Given the description of an element on the screen output the (x, y) to click on. 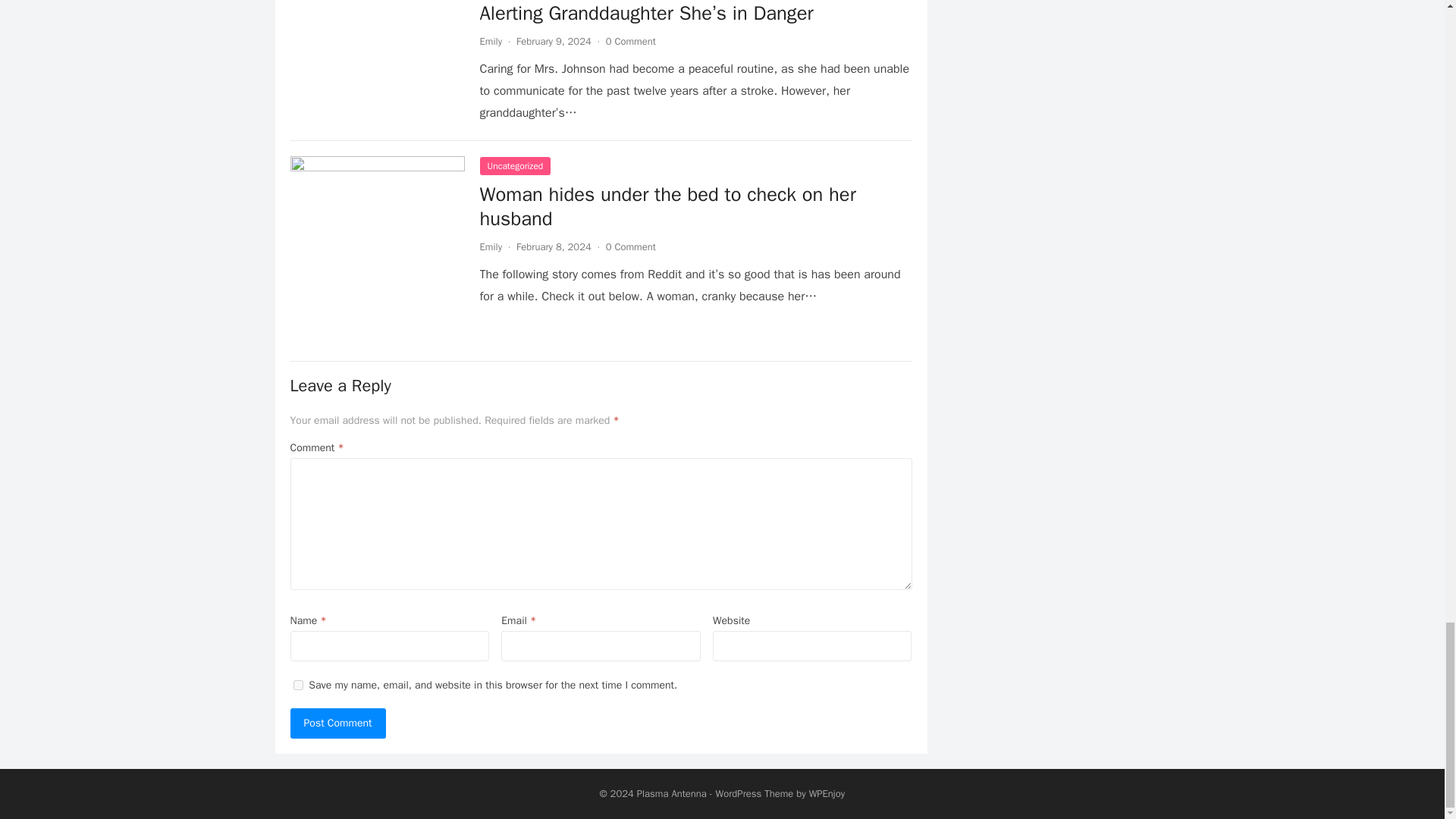
0 Comment (630, 41)
yes (297, 685)
Posts by Emily (490, 246)
Uncategorized (514, 166)
Posts by Emily (490, 41)
Emily (490, 41)
Post Comment (337, 723)
